Given the description of an element on the screen output the (x, y) to click on. 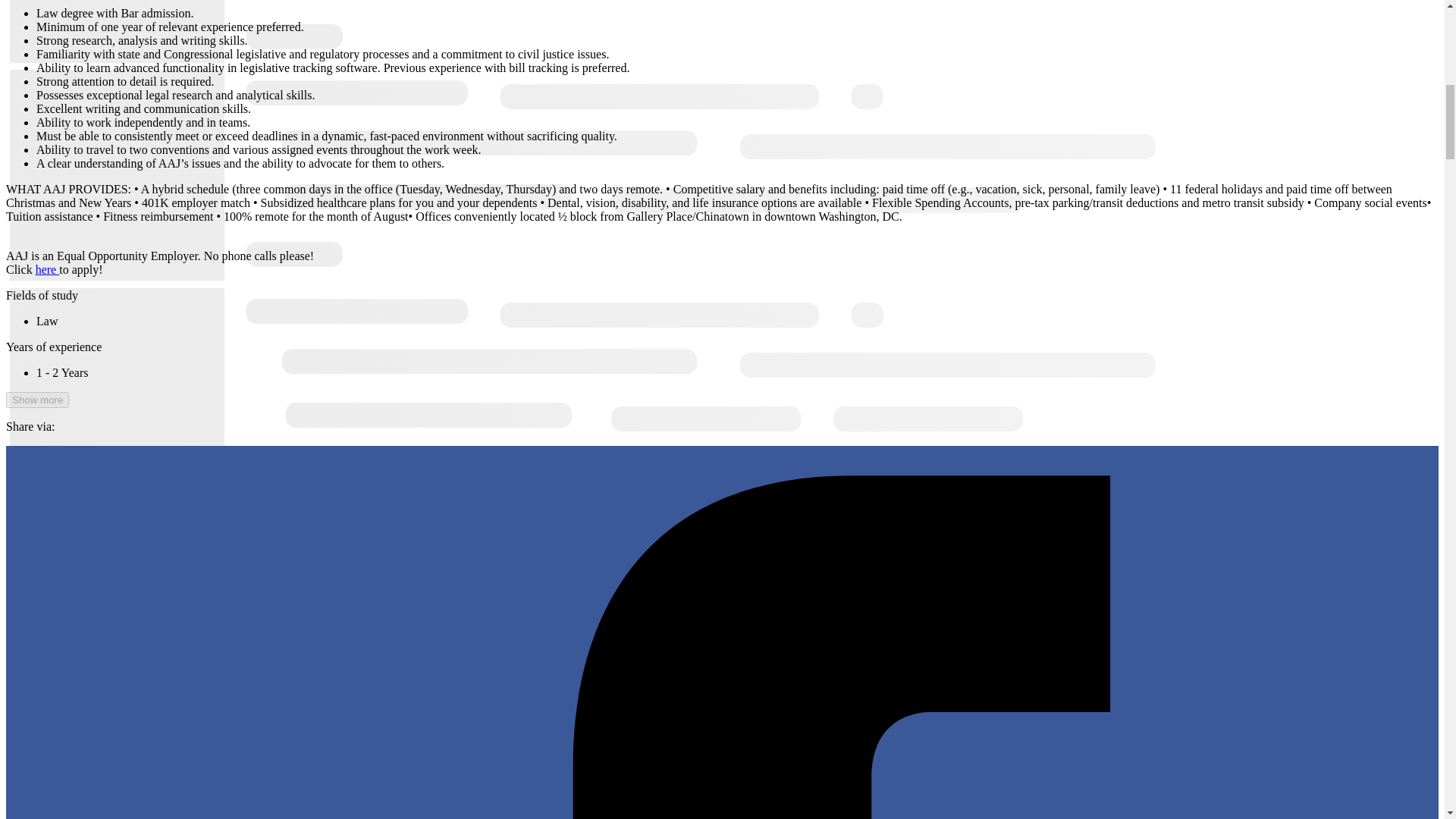
Show more (36, 399)
here (46, 269)
